Given the description of an element on the screen output the (x, y) to click on. 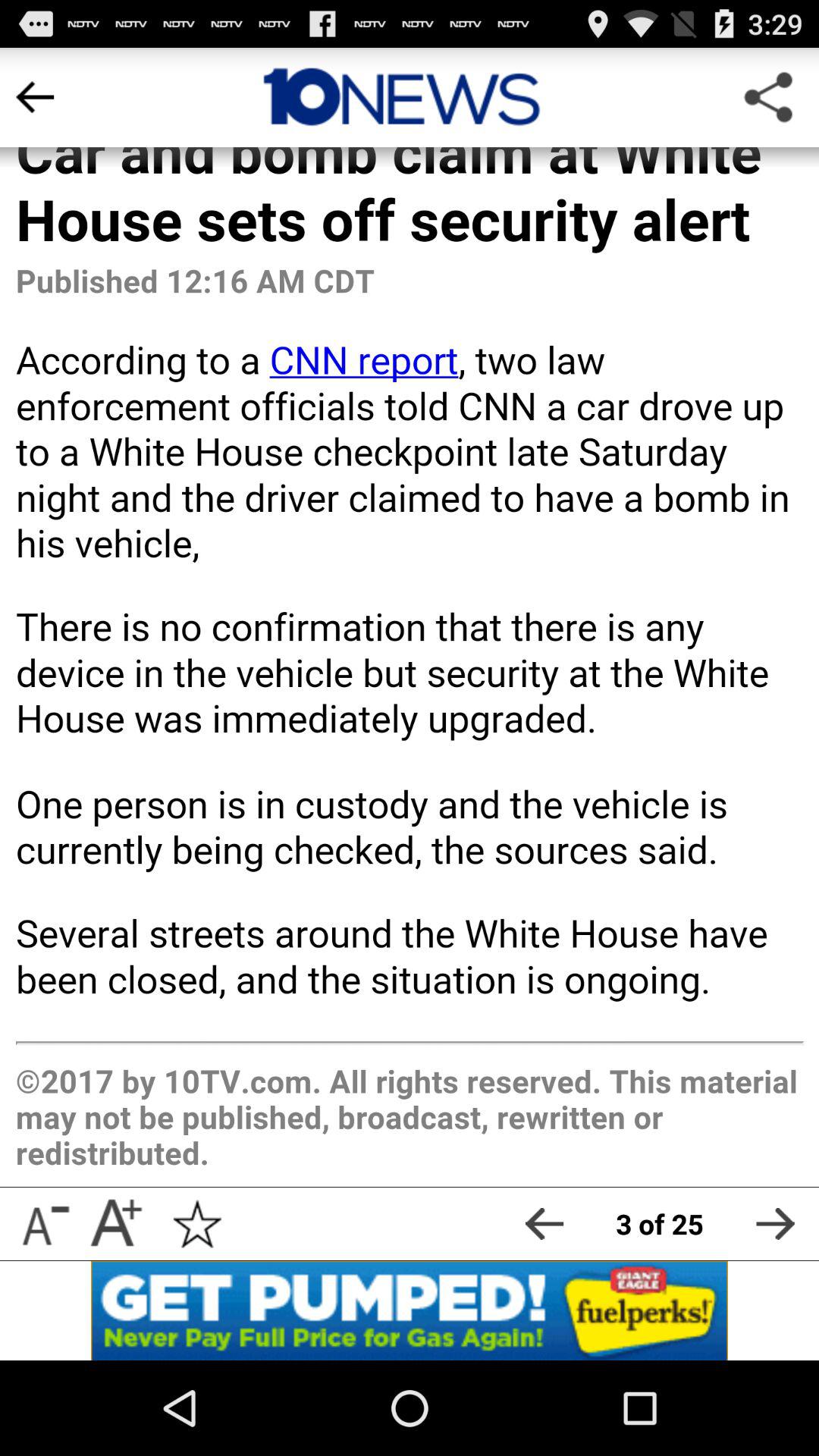
decrease font size (43, 1223)
